Given the description of an element on the screen output the (x, y) to click on. 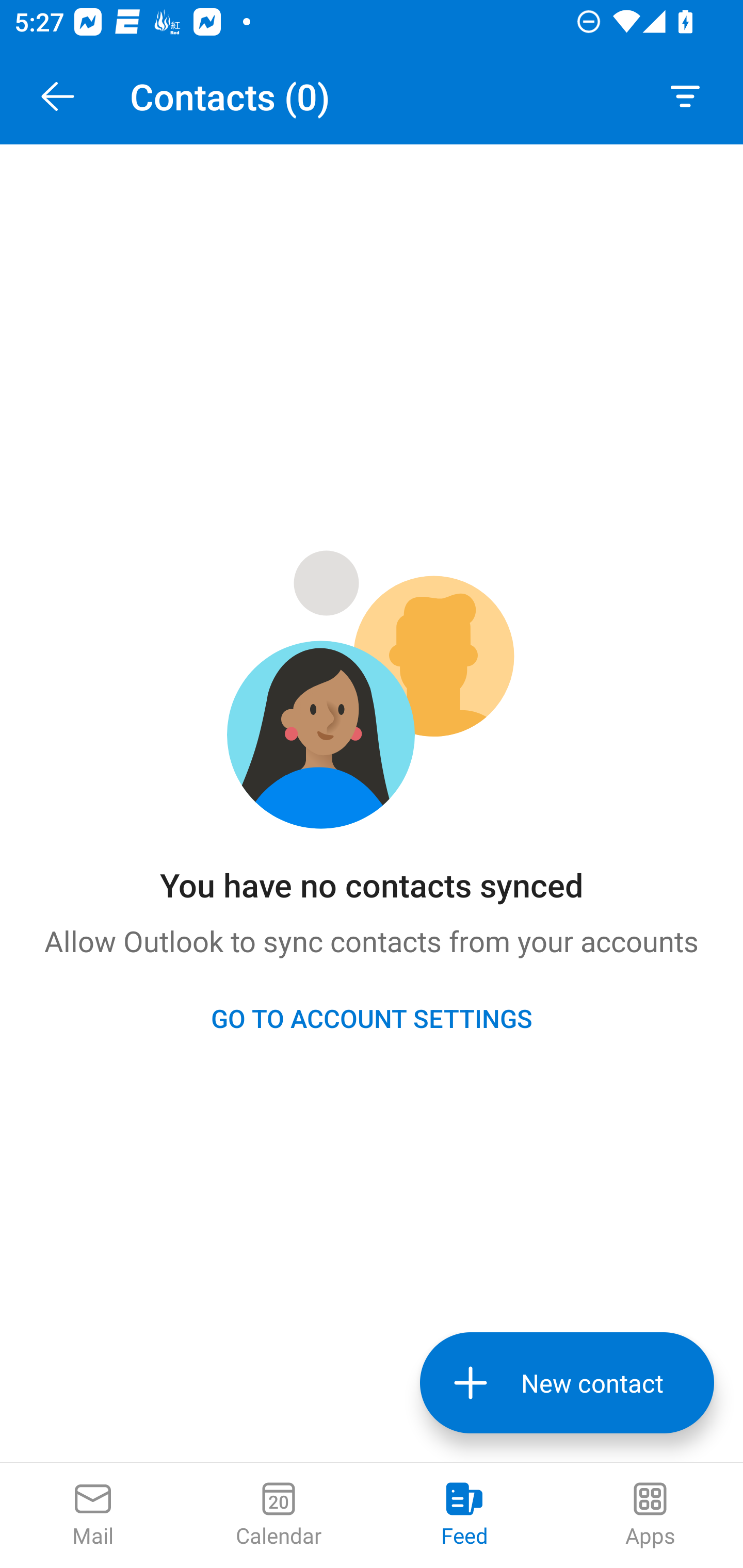
Back (57, 96)
Filter (684, 96)
GO TO ACCOUNT SETTINGS (371, 1018)
New contact (566, 1382)
Mail (92, 1515)
Calendar (278, 1515)
Apps (650, 1515)
